Given the description of an element on the screen output the (x, y) to click on. 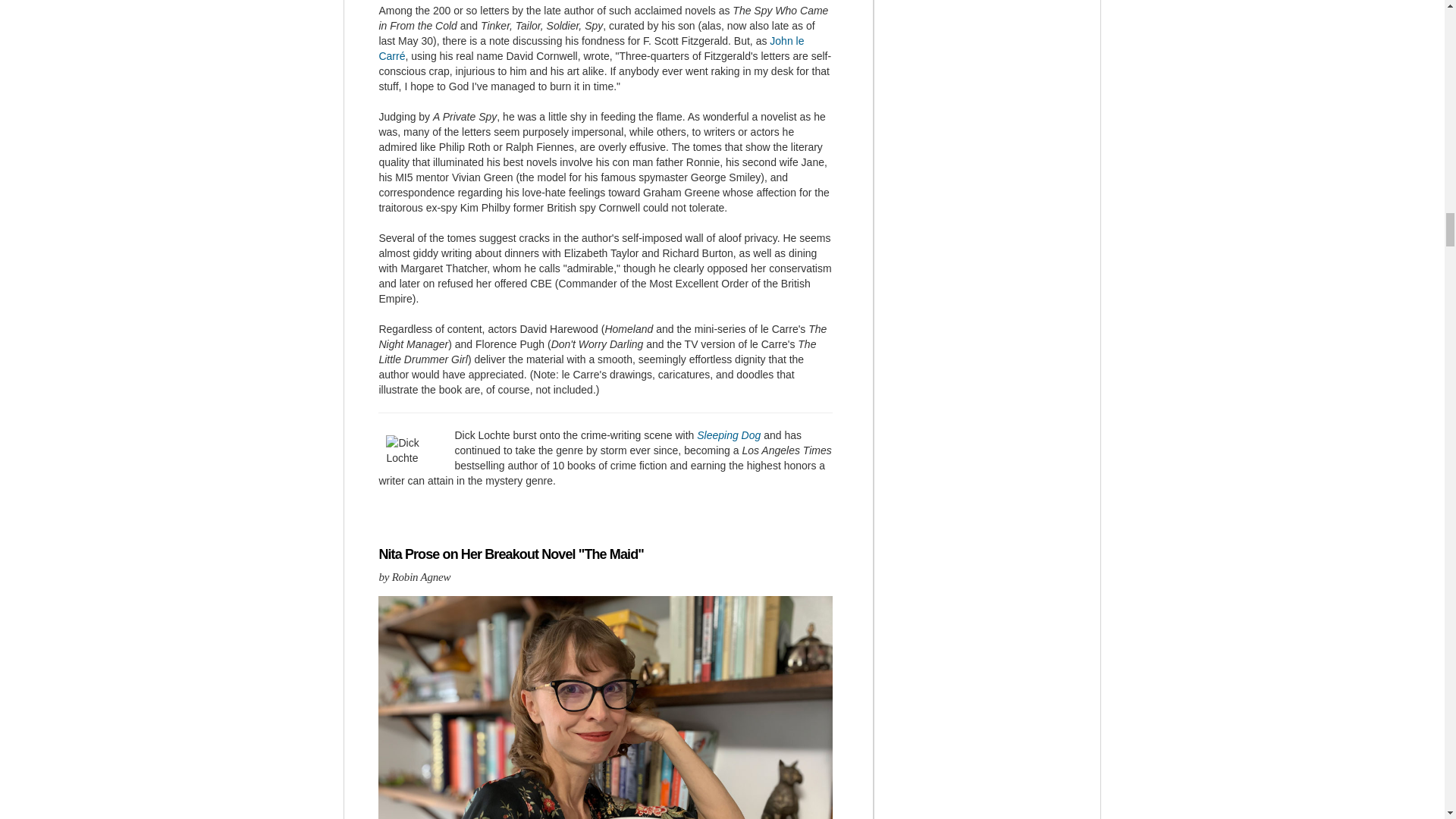
Sleeping Dog (728, 435)
Nita Prose photo credit Tony Hanyk (604, 707)
Dick Lochte (415, 450)
Sleeping Dog (728, 435)
